Given the description of an element on the screen output the (x, y) to click on. 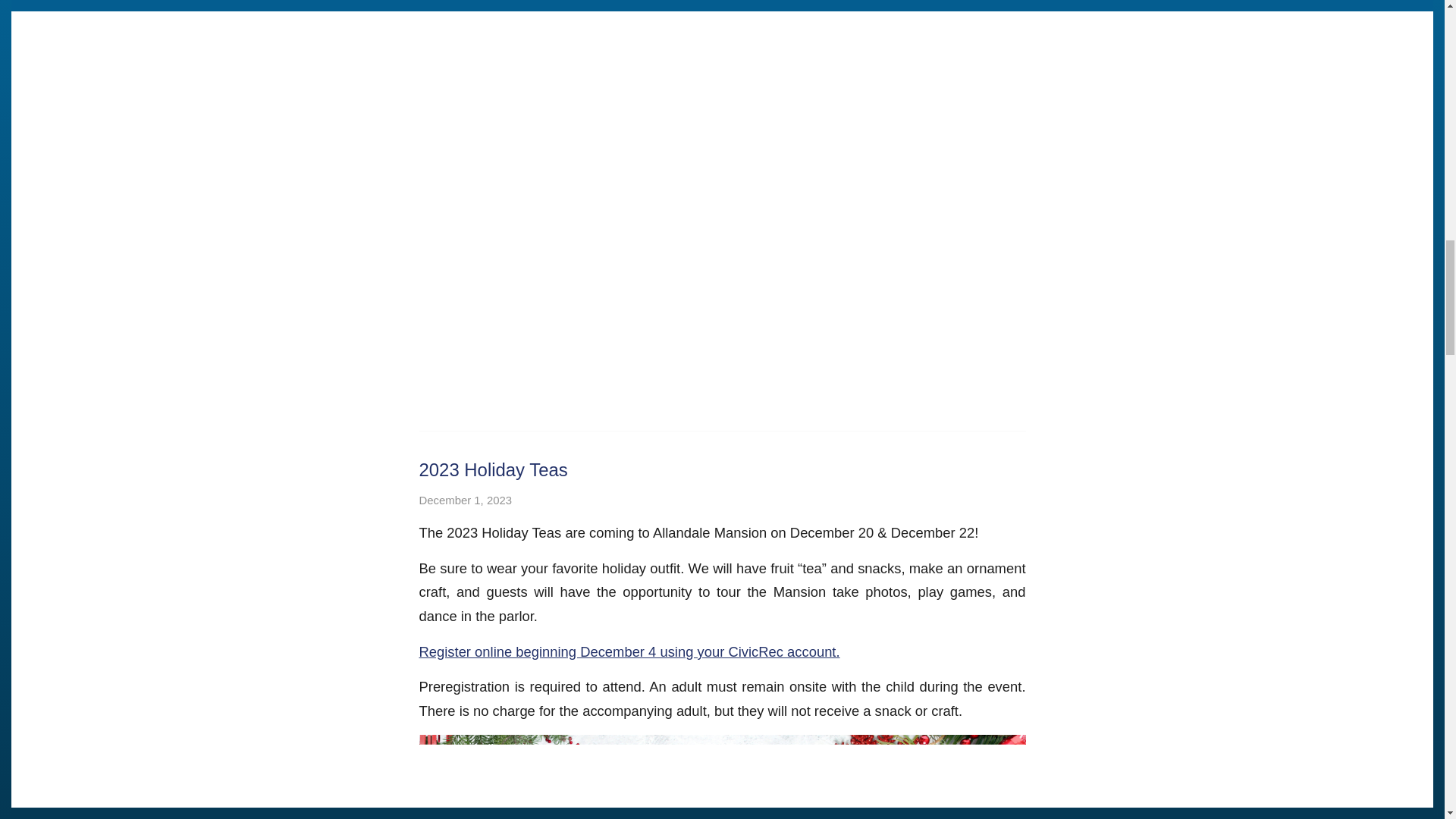
2023 Holiday Teas (493, 469)
Permanent Link: 2023 Holiday Teas (493, 469)
